Given the description of an element on the screen output the (x, y) to click on. 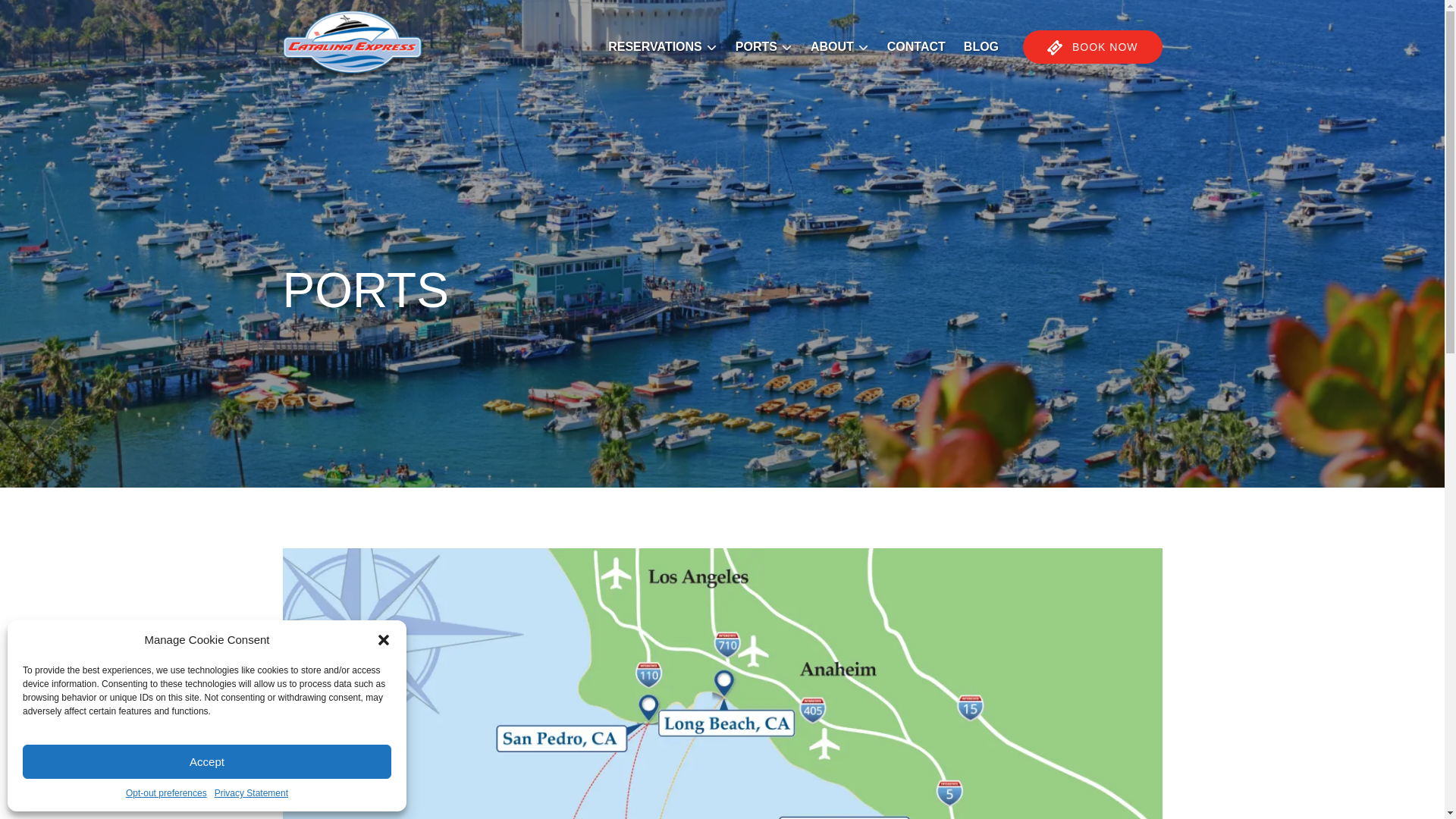
ABOUT (839, 46)
PORTS (764, 46)
Skip to content (47, 16)
RESERVATIONS (662, 46)
Skip to footer (42, 16)
Opt-out preferences (165, 793)
Open Reservations Menu (663, 37)
Skip to primary navigation (77, 16)
Privacy Statement (251, 793)
Open Ports Menu (767, 42)
